Given the description of an element on the screen output the (x, y) to click on. 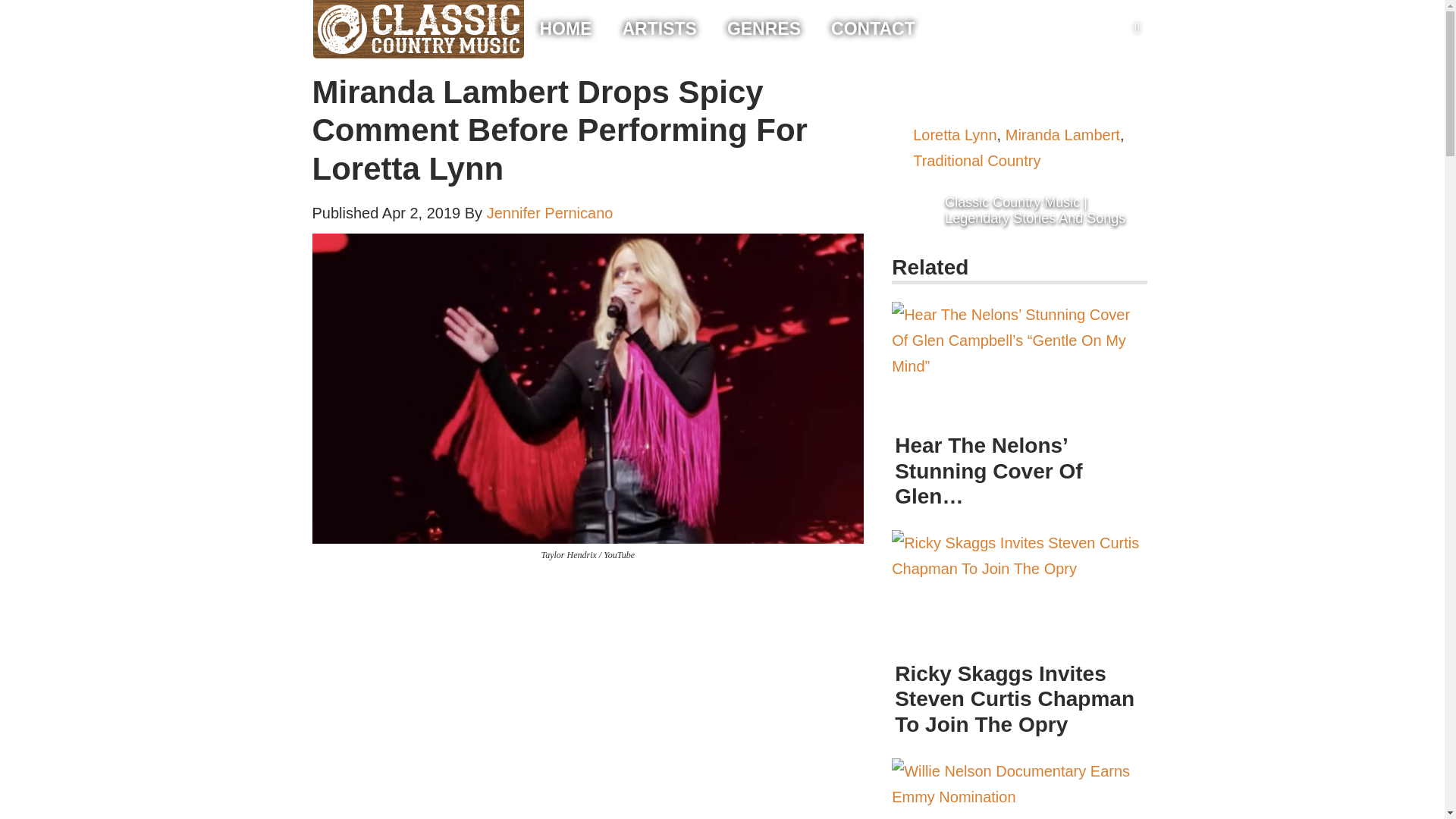
Ricky Skaggs Invites Steven Curtis Chapman To Join The Opry (1014, 698)
Search (15, 6)
ARTISTS (658, 28)
CONTACT (873, 28)
Ricky Skaggs Invites Steven Curtis Chapman To Join The Opry (1019, 595)
Willie Nelson Documentary Earns Emmy Nomination (1019, 788)
Willie Nelson Documentary Earns Emmy Nomination (1019, 788)
GENRES (763, 28)
Ricky Skaggs Invites Steven Curtis Chapman To Join The Opry (1019, 590)
HOME (566, 28)
